Given the description of an element on the screen output the (x, y) to click on. 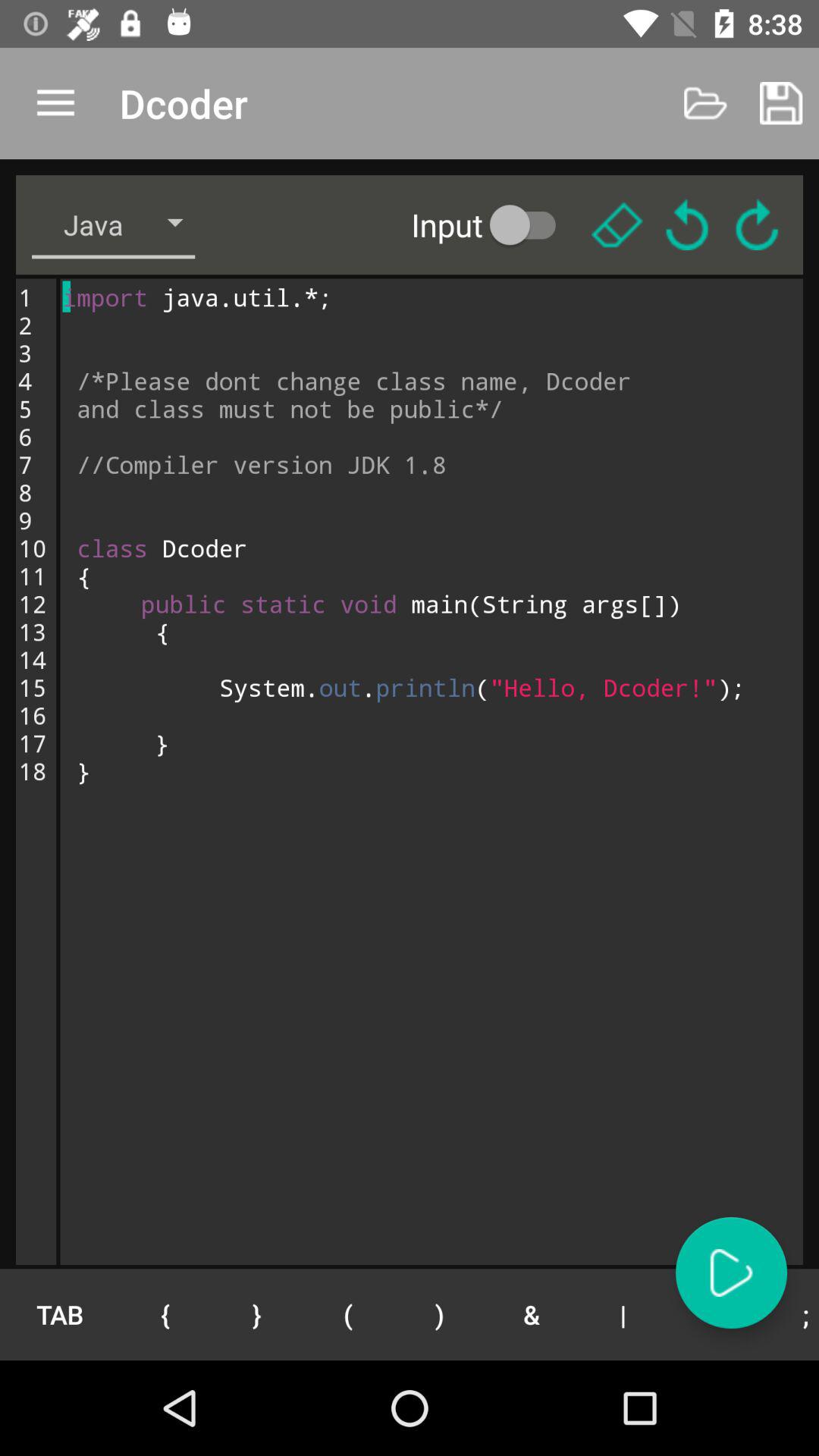
go to previous (686, 224)
